Given the description of an element on the screen output the (x, y) to click on. 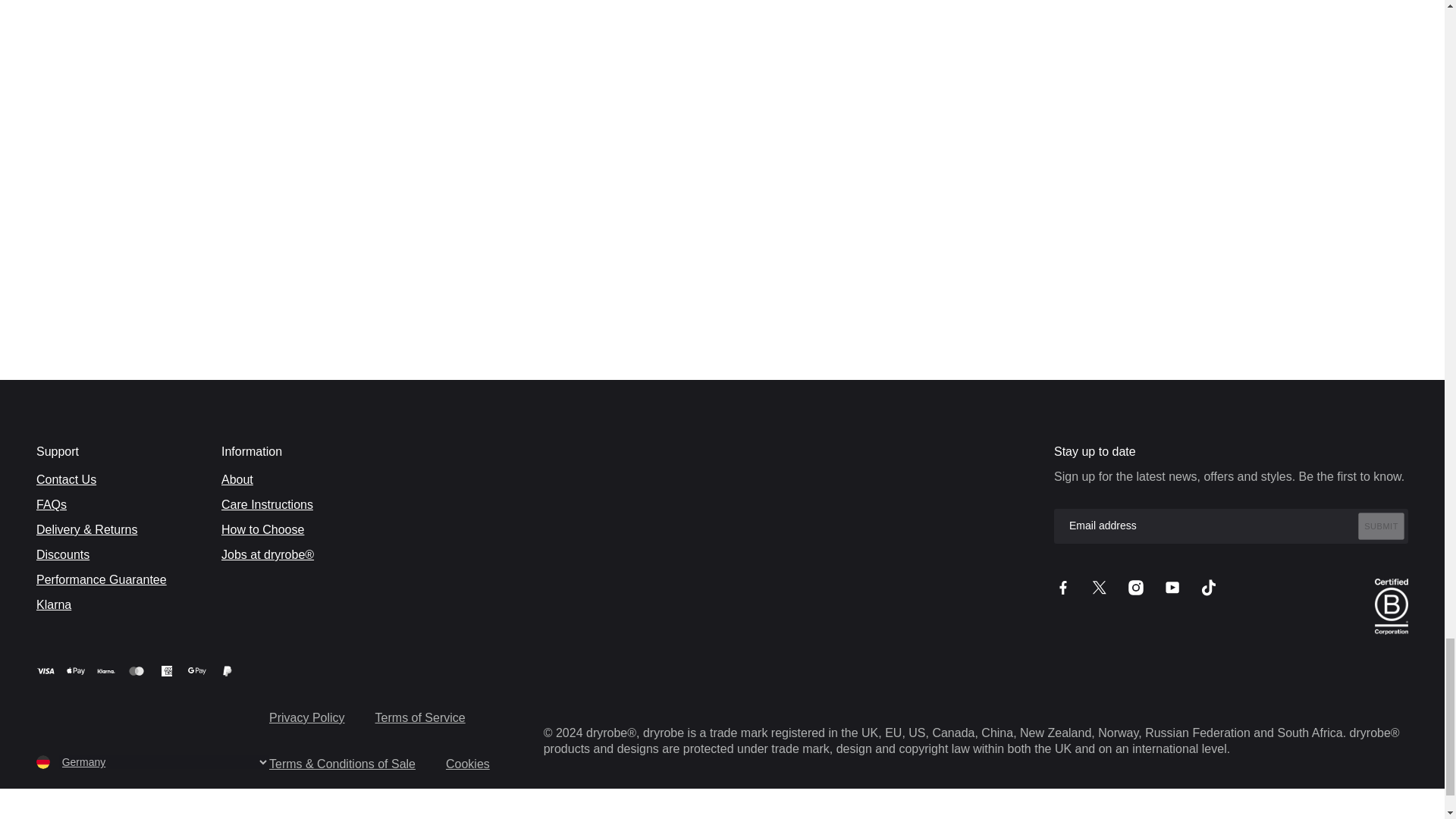
visa (45, 671)
dryrobe on facebook (1062, 587)
google-pay (196, 671)
dryrobe on tiktok (1208, 587)
apple-pay (75, 671)
dryrobe on instagram (1135, 587)
amex (166, 671)
mastercard (136, 671)
dryrobe on youtube (1171, 587)
dryrobe on twitter (1099, 587)
klarna (106, 671)
paypal (226, 671)
